Given the description of an element on the screen output the (x, y) to click on. 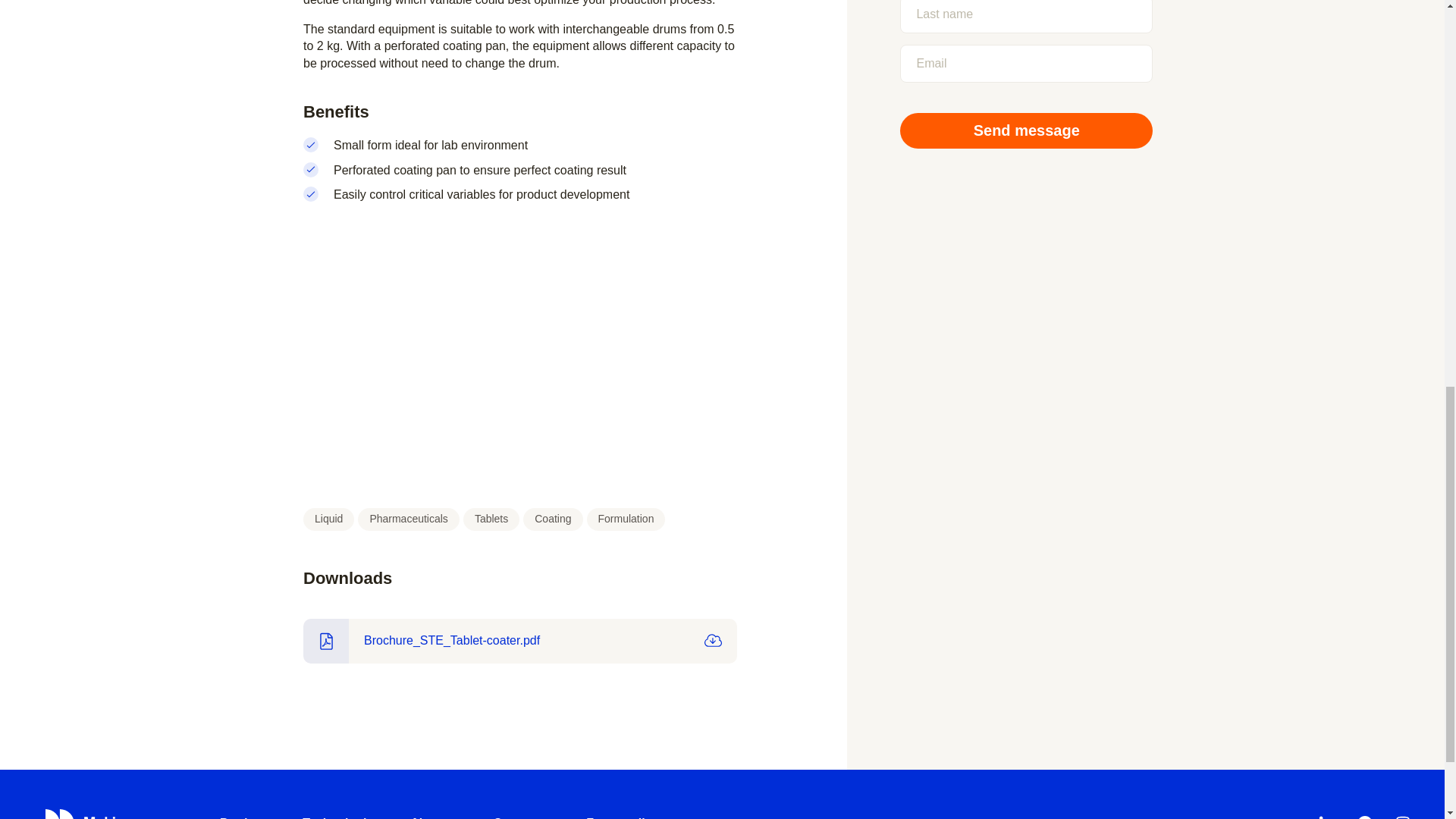
Coating (552, 518)
Technologies (341, 813)
Home (106, 813)
Tablets (491, 518)
For suppliers (624, 813)
Formulation (625, 518)
Products (245, 813)
Contact us (524, 813)
Send message (1026, 130)
About us (436, 813)
Liquid (327, 518)
Pharmaceuticals (409, 518)
